Given the description of an element on the screen output the (x, y) to click on. 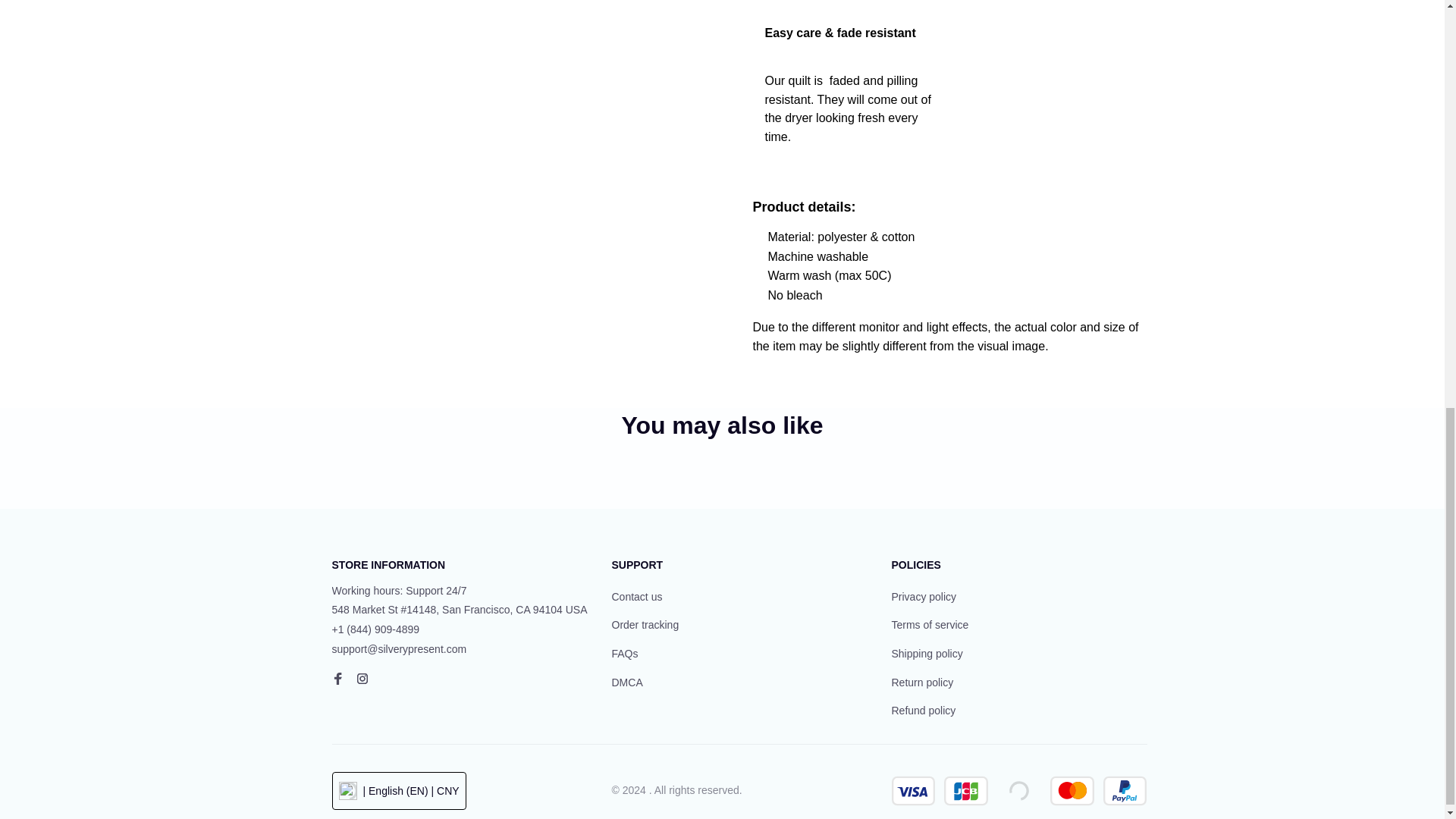
Return policy (922, 682)
Order tracking (644, 625)
Terms of service (930, 625)
FAQs (624, 654)
Contact us (636, 597)
Refund policy (923, 710)
DMCA (626, 682)
Privacy policy (923, 597)
Shipping policy (926, 654)
